Given the description of an element on the screen output the (x, y) to click on. 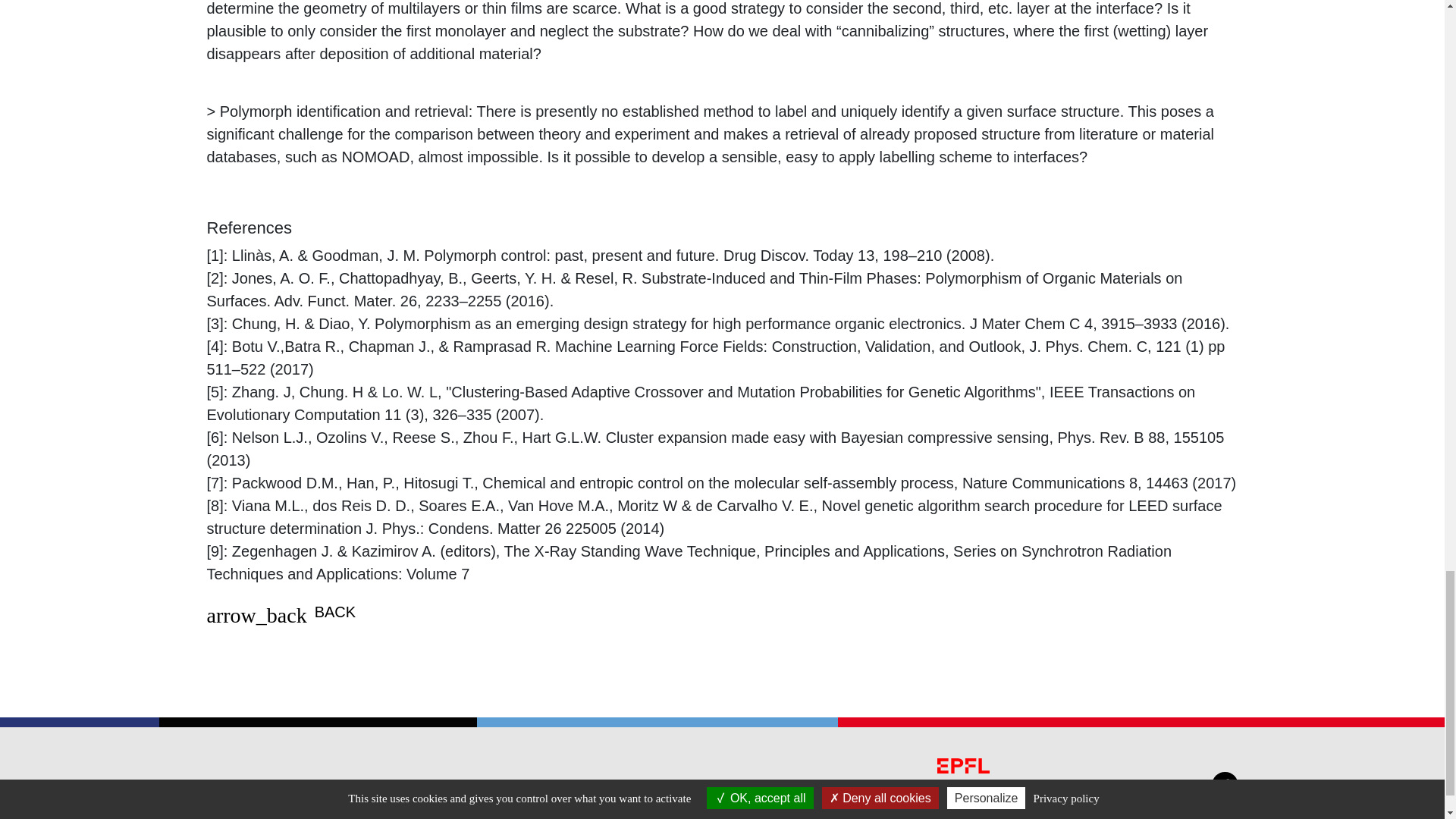
phone (590, 797)
email (249, 797)
contact (671, 797)
